Given the description of an element on the screen output the (x, y) to click on. 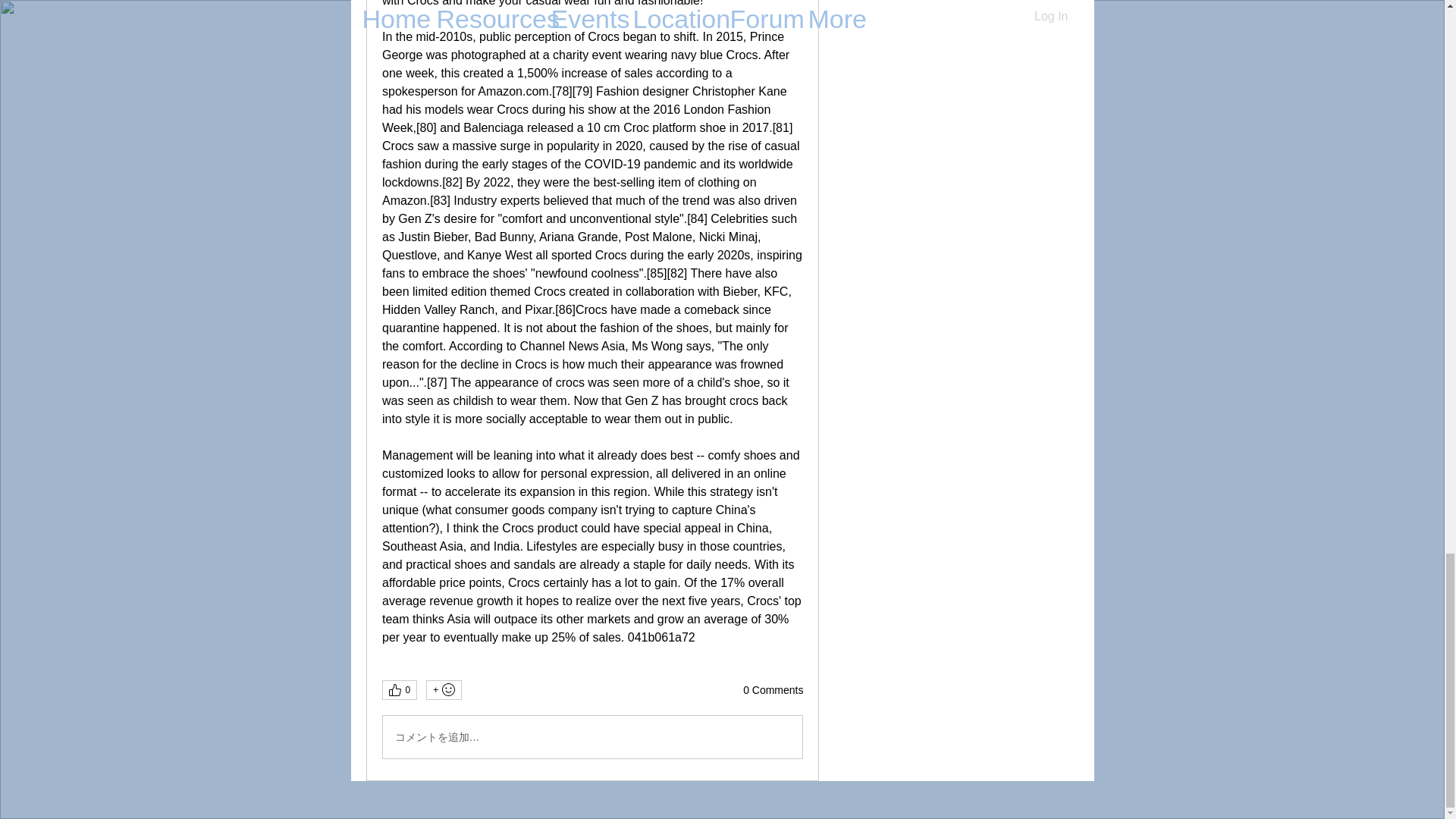
0 Comments (772, 690)
